Given the description of an element on the screen output the (x, y) to click on. 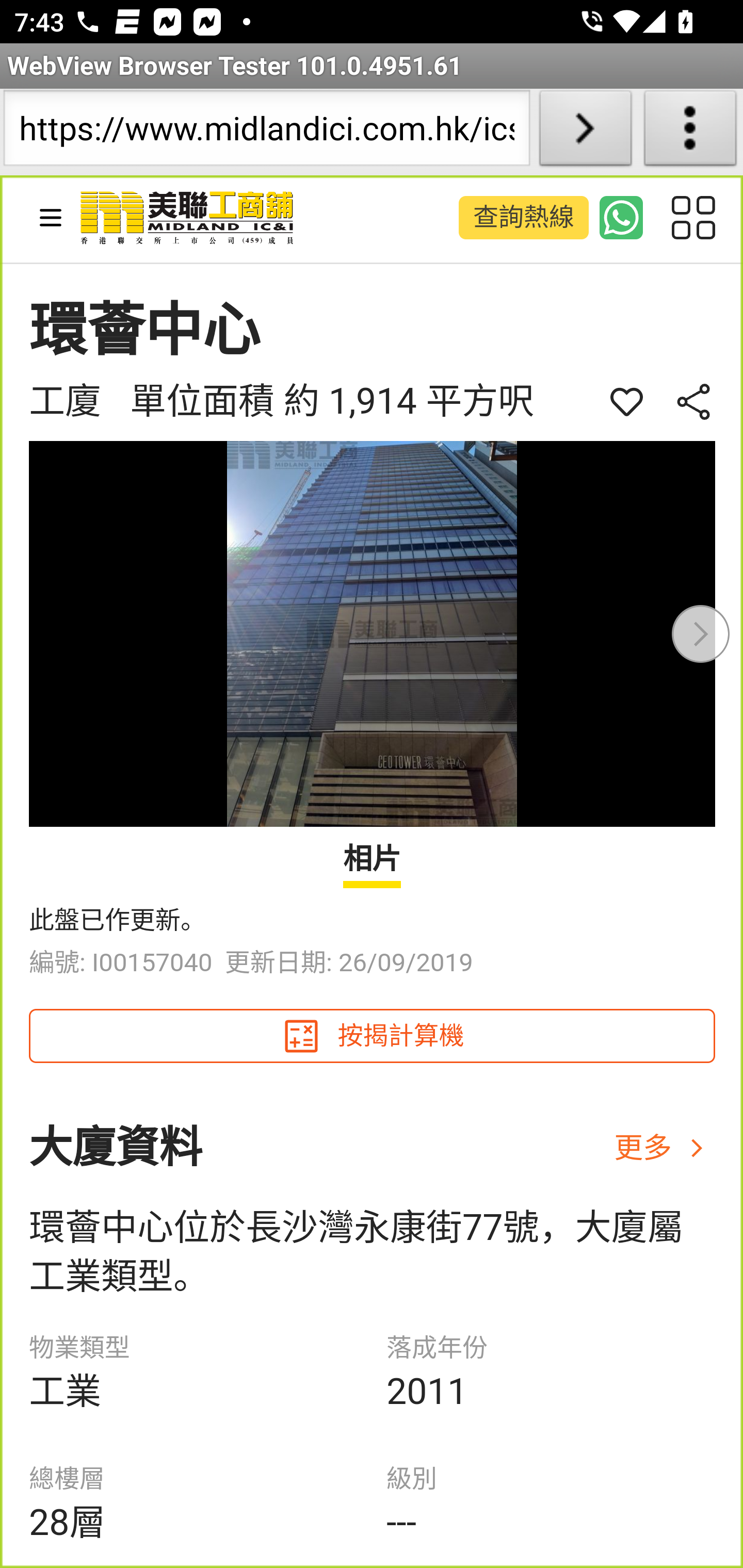
Load URL (585, 132)
About WebView (690, 132)
mr_ici_header_logo (187, 218)
menu (50, 216)
查詢熱線 (522, 216)
WhatsApp: 6533 8082 (621, 216)
 (627, 401)
Next page (701, 633)
相片 (372, 863)
按揭計算機 (372, 1035)
更多 (664, 1147)
